Given the description of an element on the screen output the (x, y) to click on. 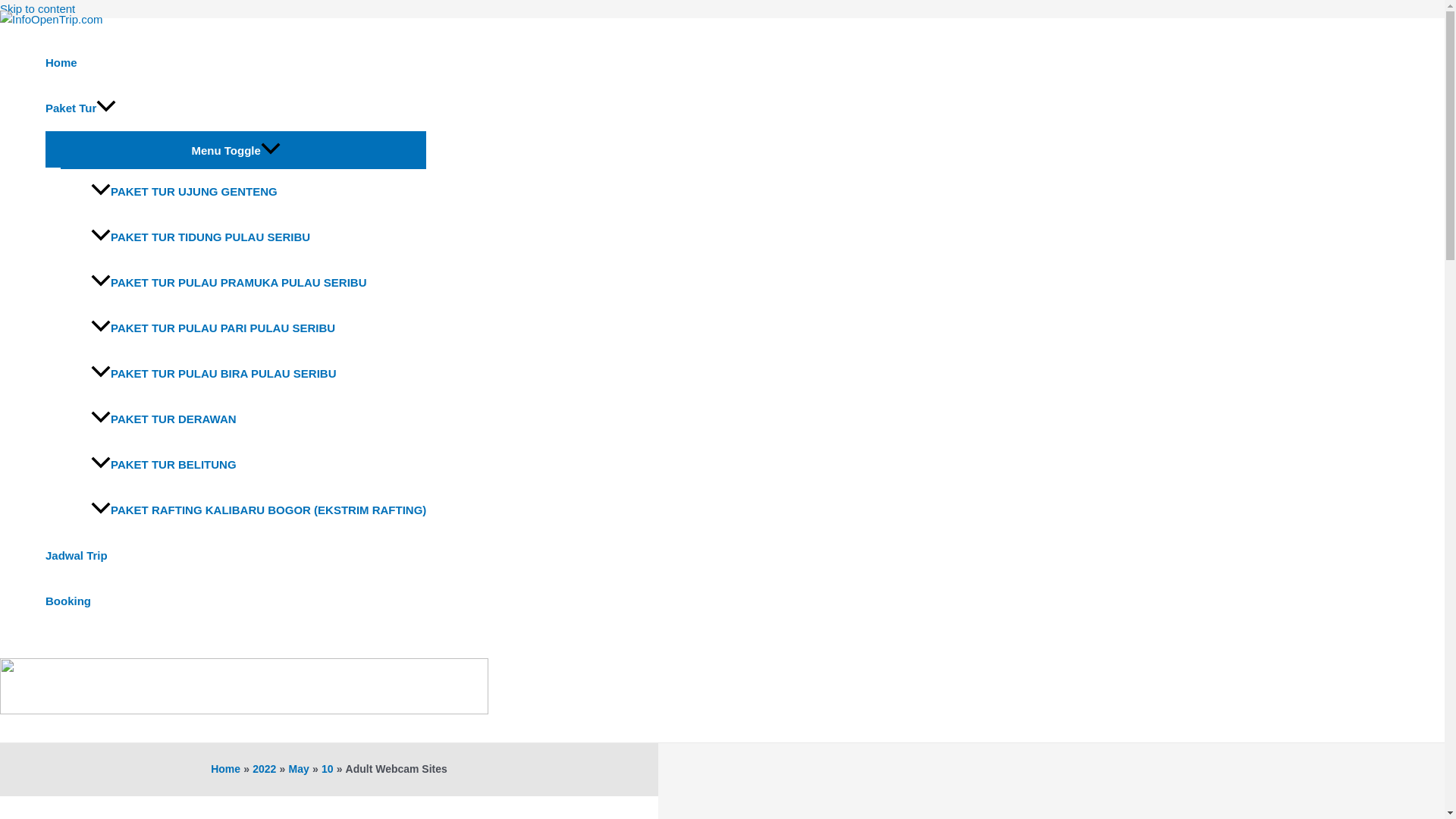
Menu Toggle (235, 149)
PAKET TUR PULAU BIRA PULAU SERIBU (258, 373)
Paket Tur (235, 108)
2022 (263, 768)
Skip to content (37, 8)
PAKET TUR TIDUNG PULAU SERIBU (258, 237)
Skip to content (37, 8)
PAKET TUR DERAWAN (258, 419)
PAKET TUR BELITUNG (258, 464)
Home (235, 62)
